Given the description of an element on the screen output the (x, y) to click on. 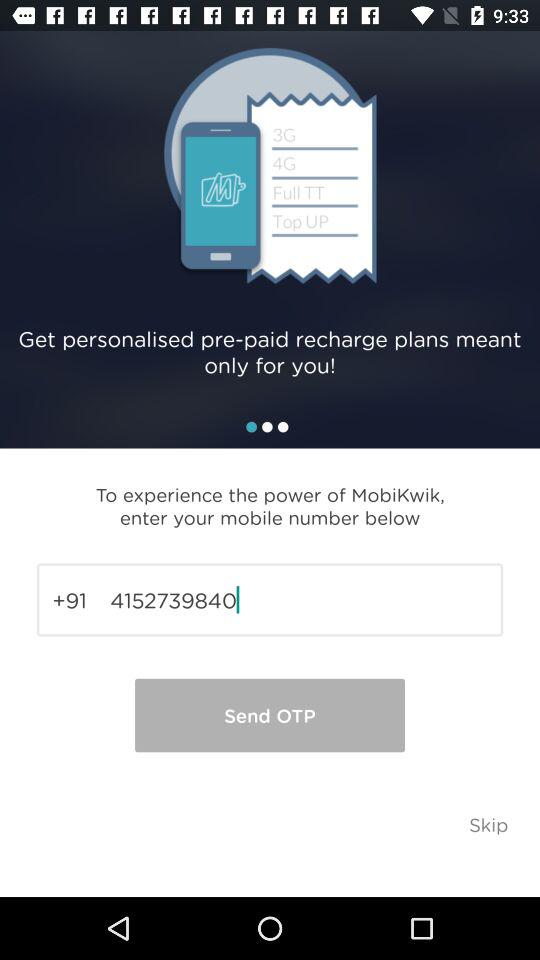
click the skip (488, 823)
